Given the description of an element on the screen output the (x, y) to click on. 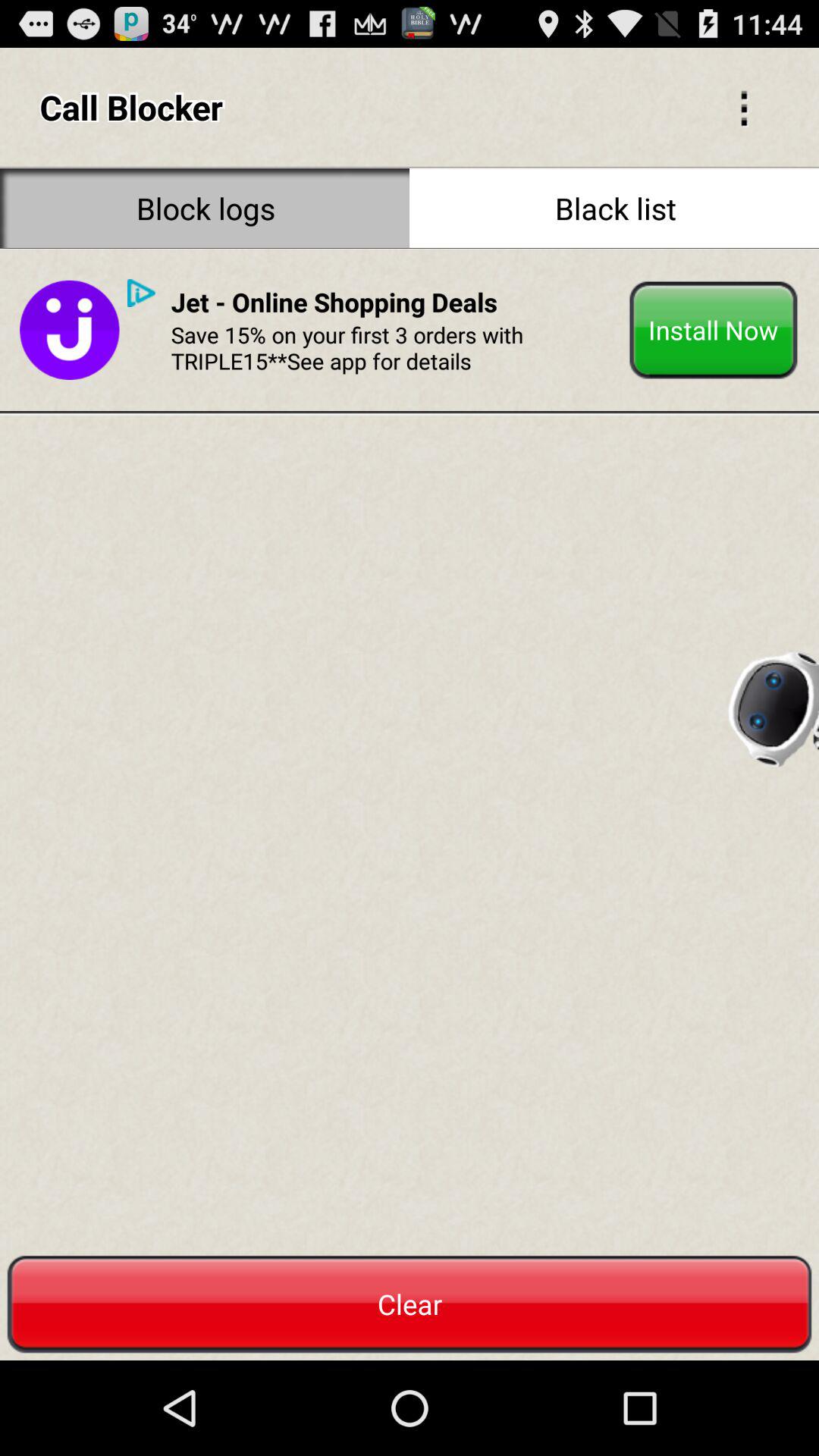
tap the item below the jet online shopping (394, 347)
